Given the description of an element on the screen output the (x, y) to click on. 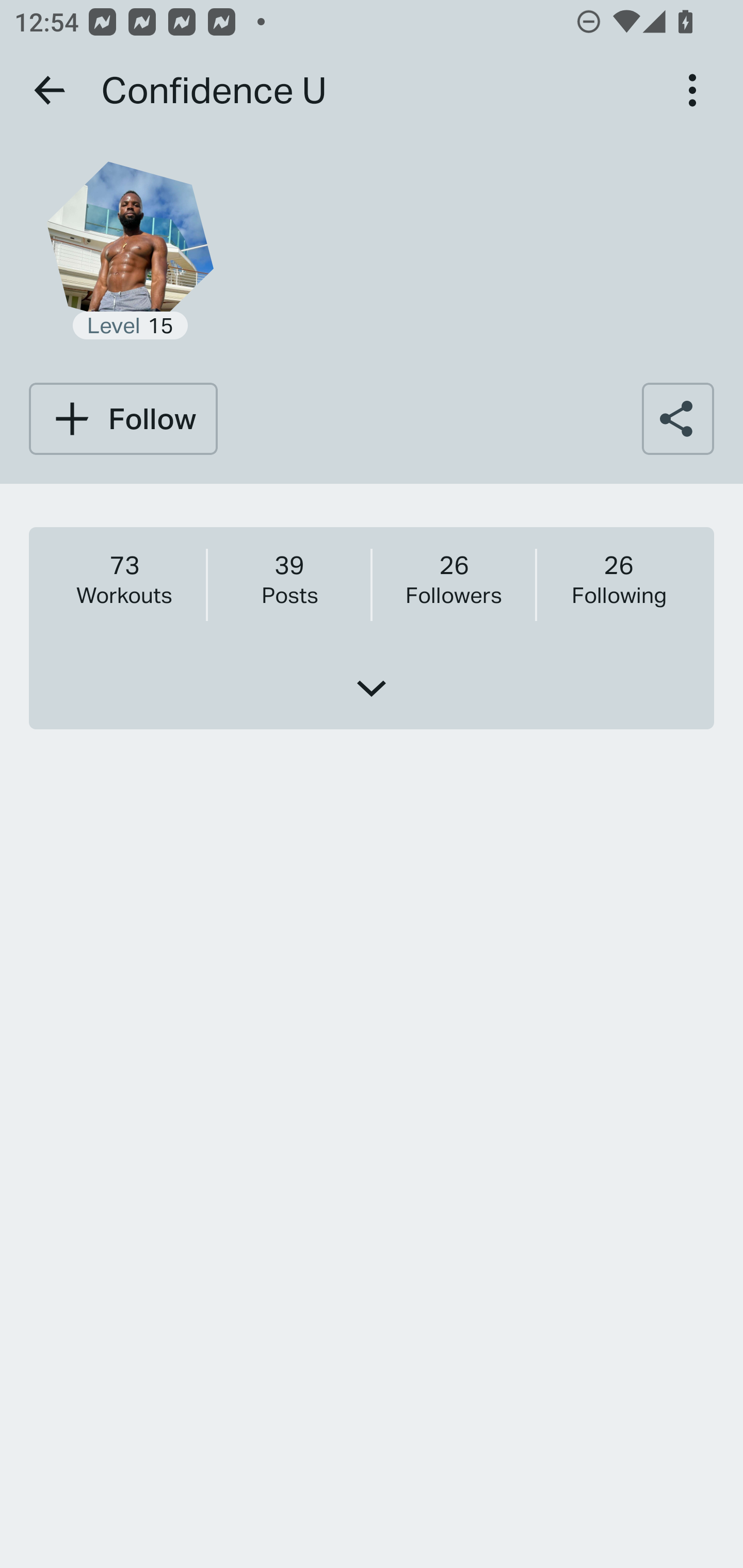
Go back (50, 90)
Options (692, 90)
Follow (123, 418)
73 Workouts (124, 579)
39 Posts (289, 579)
26 Followers (453, 579)
26 Following (618, 579)
